Given the description of an element on the screen output the (x, y) to click on. 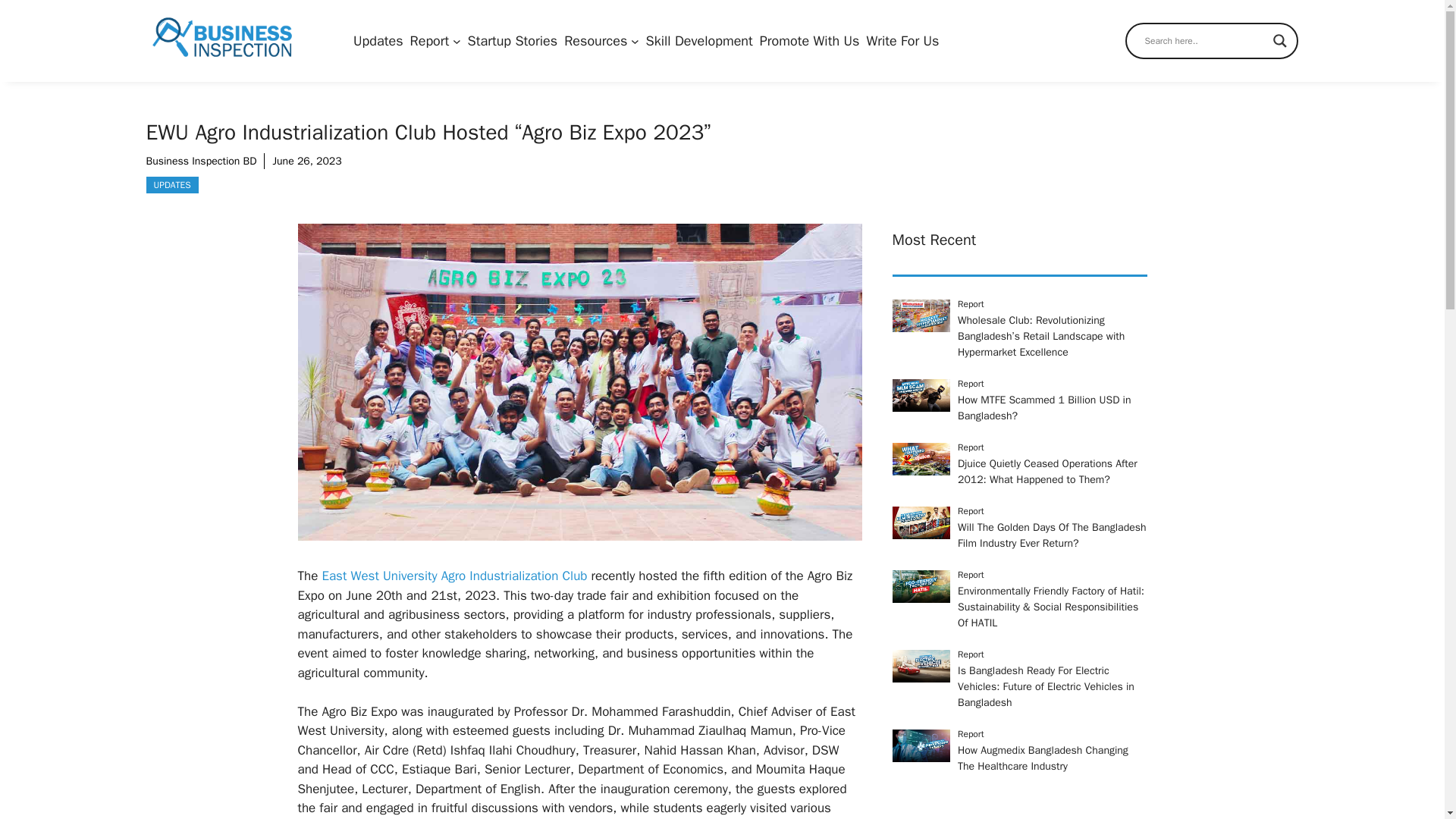
Promote With Us (810, 40)
Write For Us (902, 40)
Resources (595, 40)
Skill Development (699, 40)
Report (429, 40)
Updates (378, 40)
Startup Stories (512, 40)
